Given the description of an element on the screen output the (x, y) to click on. 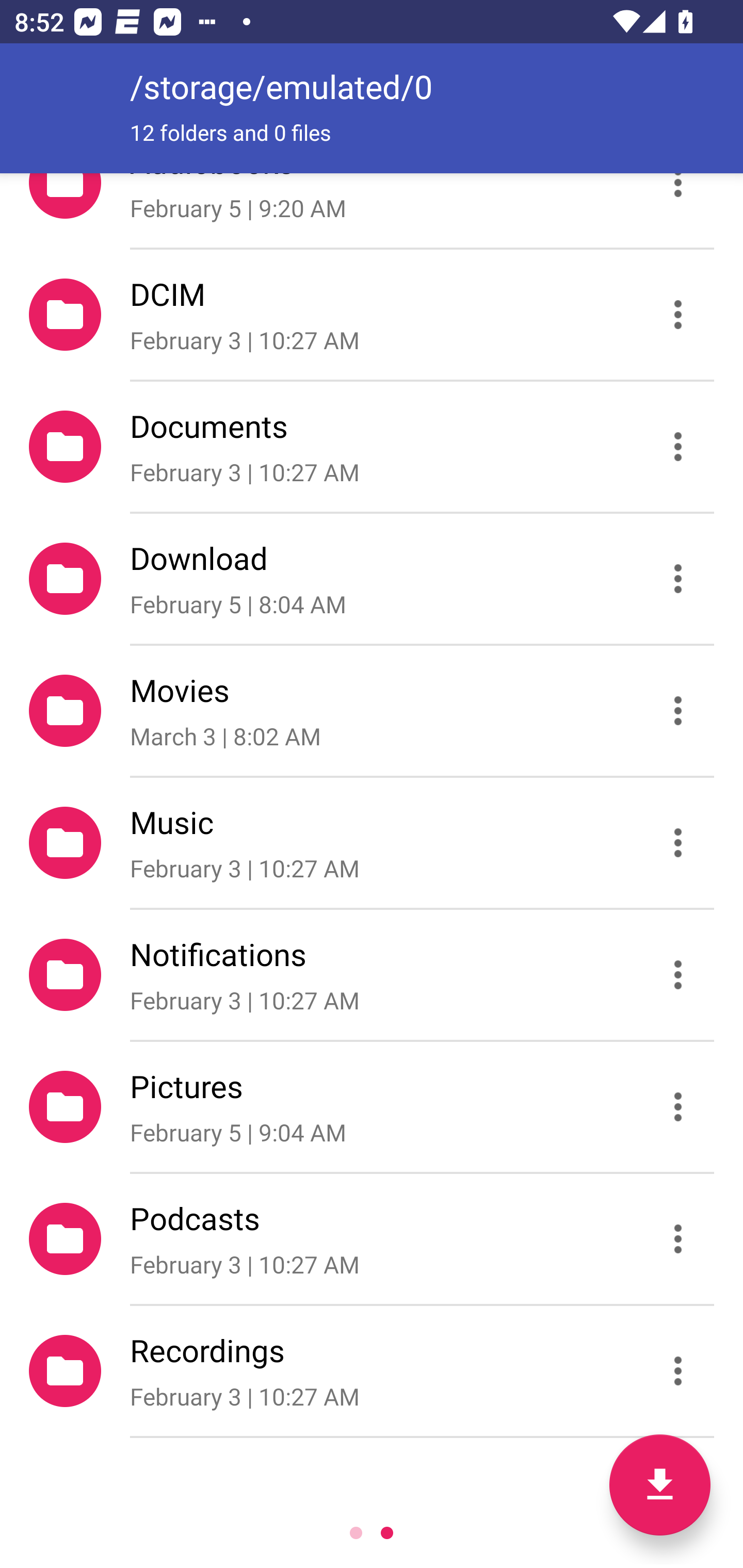
Audiobooks February 5 | 9:20 AM (371, 210)
DCIM February 3 | 10:27 AM (371, 314)
Documents February 3 | 10:27 AM (371, 446)
Download February 5 | 8:04 AM (371, 579)
Movies March 3 | 8:02 AM (371, 711)
Music February 3 | 10:27 AM (371, 842)
Notifications February 3 | 10:27 AM (371, 974)
Pictures February 5 | 9:04 AM (371, 1106)
Podcasts February 3 | 10:27 AM (371, 1239)
Recordings February 3 | 10:27 AM (371, 1371)
